Given the description of an element on the screen output the (x, y) to click on. 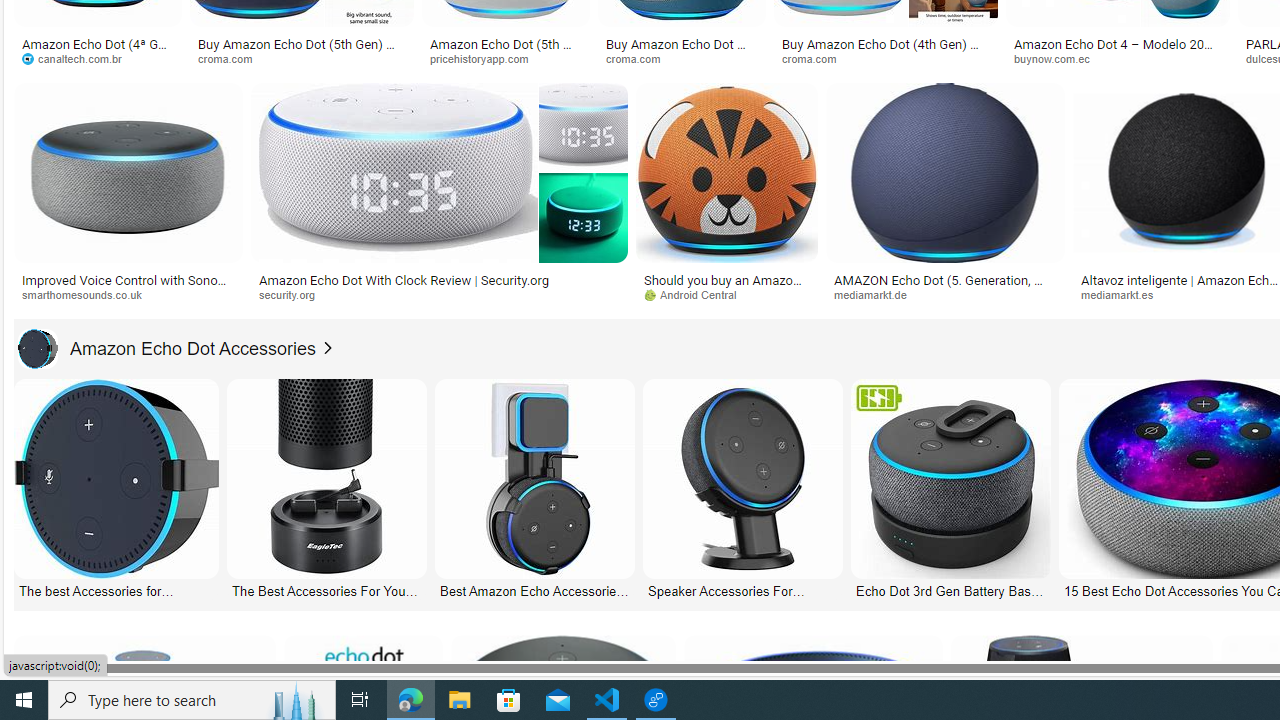
security.org (438, 295)
smarthomesounds.co.uk (88, 294)
buynow.com.ec (1117, 58)
smarthomesounds.co.uk (128, 295)
security.org (294, 294)
croma.com (885, 58)
